Given the description of an element on the screen output the (x, y) to click on. 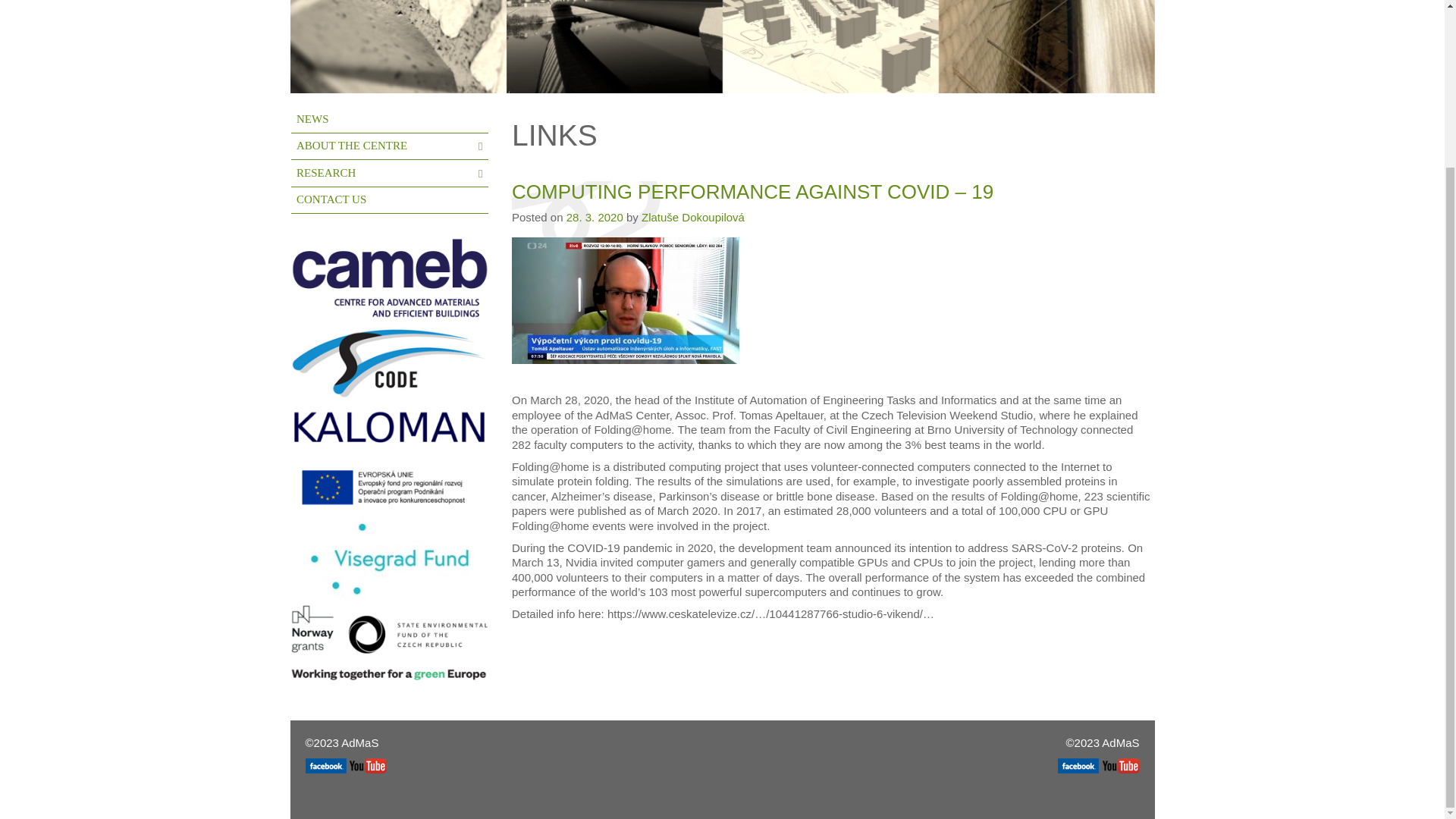
NEWS (390, 119)
RESEARCH (390, 173)
ABOUT THE CENTRE (390, 146)
13:48 (594, 216)
28. 3. 2020 (594, 216)
CONTACT US (390, 200)
